Given the description of an element on the screen output the (x, y) to click on. 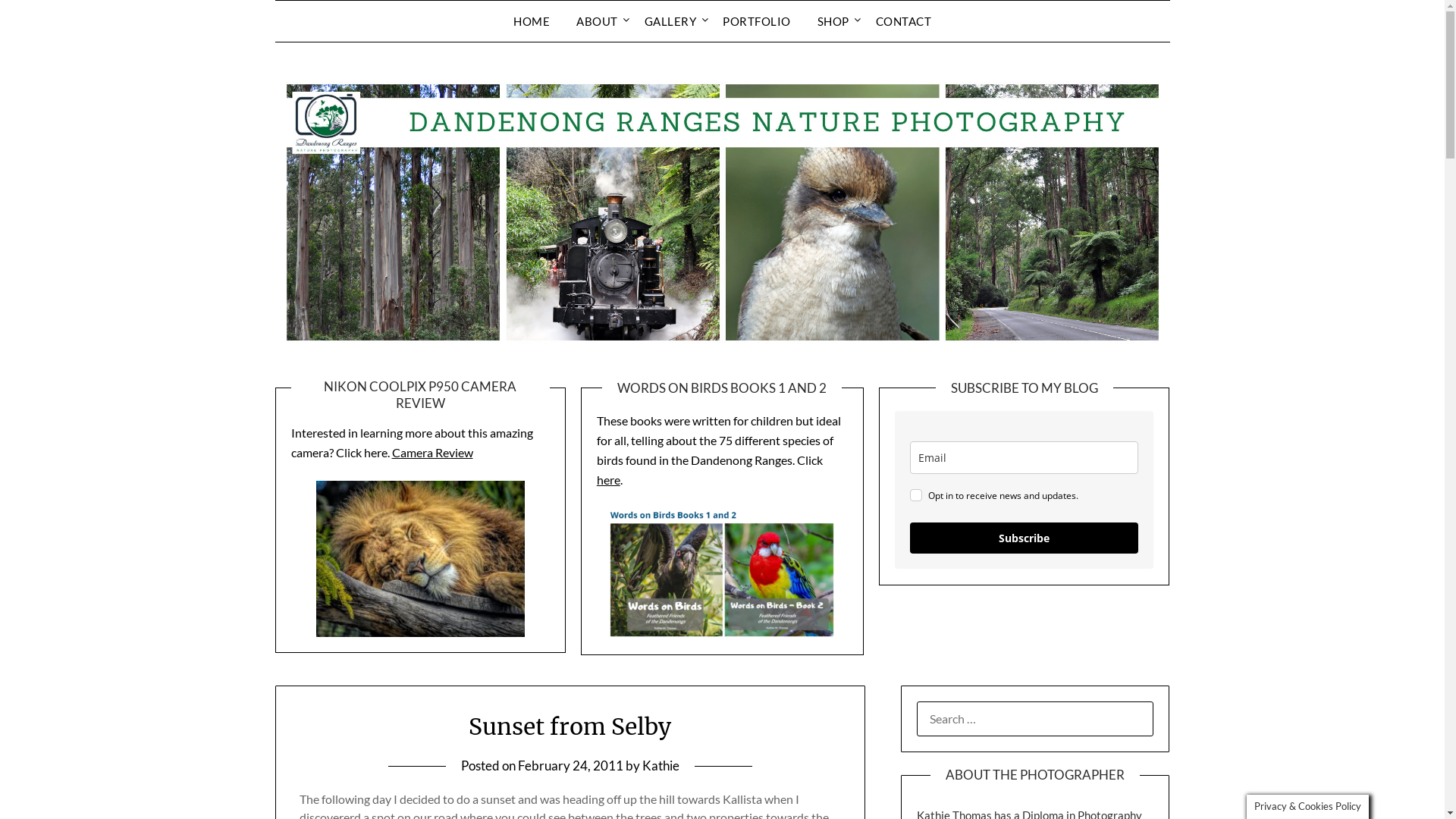
here Element type: text (608, 479)
SHOP Element type: text (833, 20)
GALLERY Element type: text (670, 20)
PORTFOLIO Element type: text (756, 20)
February 24, 2011 Element type: text (570, 765)
Search Element type: text (37, 21)
CONTACT Element type: text (902, 20)
ABOUT Element type: text (597, 20)
Subscribe Element type: text (1024, 537)
Kathie Element type: text (660, 765)
Sunset from Selby Element type: text (569, 726)
Camera Review Element type: text (431, 452)
HOME Element type: text (531, 20)
